Given the description of an element on the screen output the (x, y) to click on. 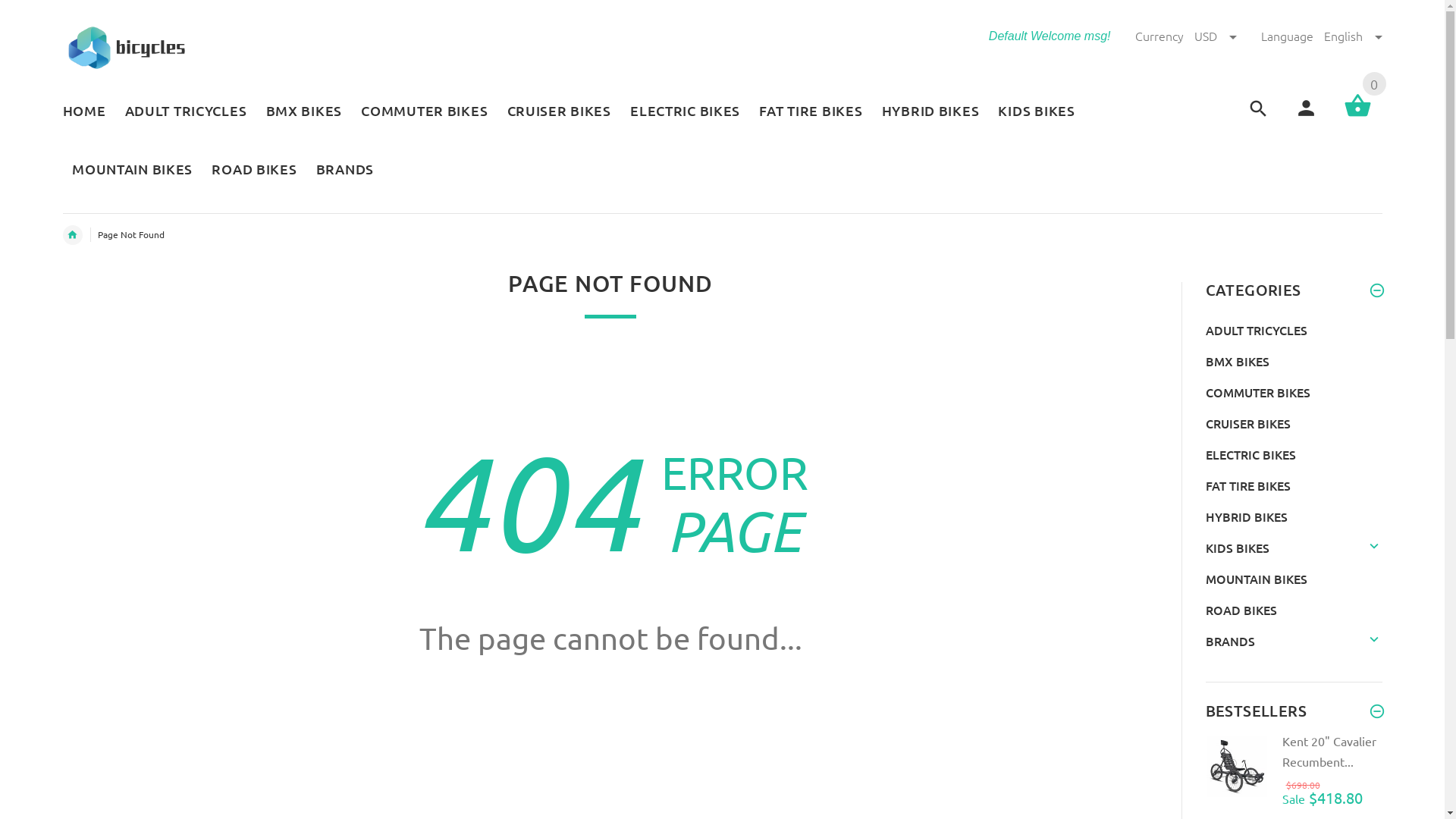
ELECTRIC BIKES Element type: text (1250, 453)
HOME Element type: text (88, 111)
English Element type: text (1353, 35)
CRUISER BIKES Element type: text (1247, 422)
ADULT TRICYCLES Element type: text (1256, 329)
BRANDS Element type: text (1230, 640)
FAT TIRE BIKES Element type: text (1247, 484)
Go Home Element type: text (610, 710)
COMMUTER BIKES Element type: text (424, 111)
MOUNTAIN BIKES Element type: text (131, 170)
BRANDS Element type: text (339, 170)
CRUISER BIKES Element type: text (559, 111)
FAT TIRE BIKES Element type: text (810, 111)
Home Element type: text (71, 234)
ELECTRIC BIKES Element type: text (684, 111)
ROAD BIKES Element type: text (1241, 609)
KIDS BIKES Element type: text (1036, 111)
KIDS BIKES Element type: text (1237, 547)
Kent 20" Cavalier Recumbent... Element type: text (1329, 750)
ROAD BIKES Element type: text (254, 170)
BMX BIKES Element type: text (1237, 360)
HYBRID BIKES Element type: text (1246, 516)
USD Element type: text (1216, 35)
MOUNTAIN BIKES Element type: text (1256, 578)
ADULT TRICYCLES Element type: text (185, 111)
0 Element type: text (1357, 114)
BMX BIKES Element type: text (303, 111)
COMMUTER BIKES Element type: text (1257, 391)
HYBRID BIKES Element type: text (930, 111)
